Given the description of an element on the screen output the (x, y) to click on. 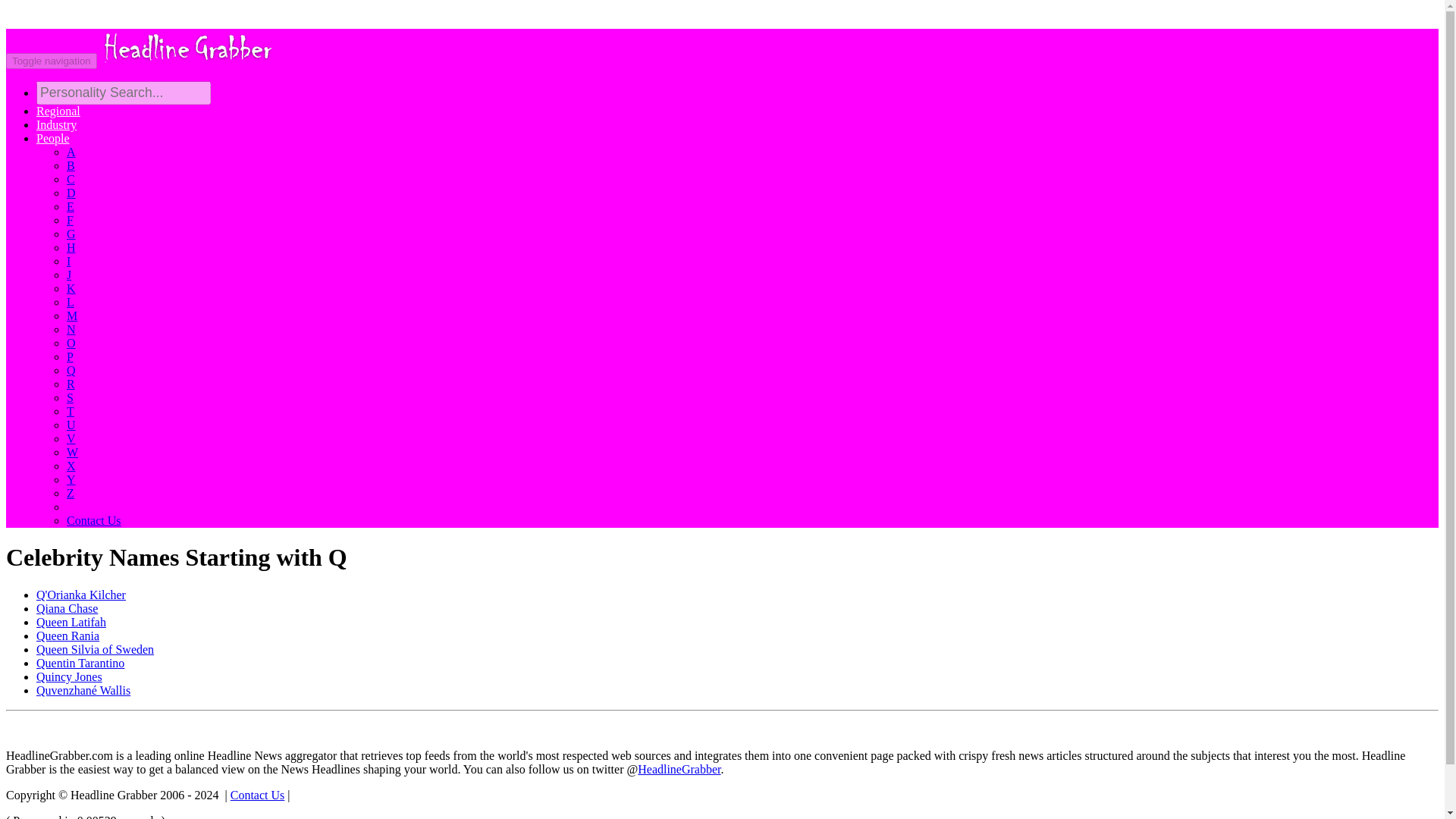
Quentin Tarantino (79, 662)
Quincy Jones (68, 676)
Qiana Chase (66, 608)
K (70, 287)
J (68, 274)
F (70, 219)
D (70, 192)
V (70, 438)
Q'Orianka Kilcher (80, 594)
P (70, 356)
Visit Headline Grabber's News Headlines. (187, 60)
Queen Latifah (71, 621)
Queen Silvia of Sweden (95, 649)
G (70, 233)
H (70, 246)
